Given the description of an element on the screen output the (x, y) to click on. 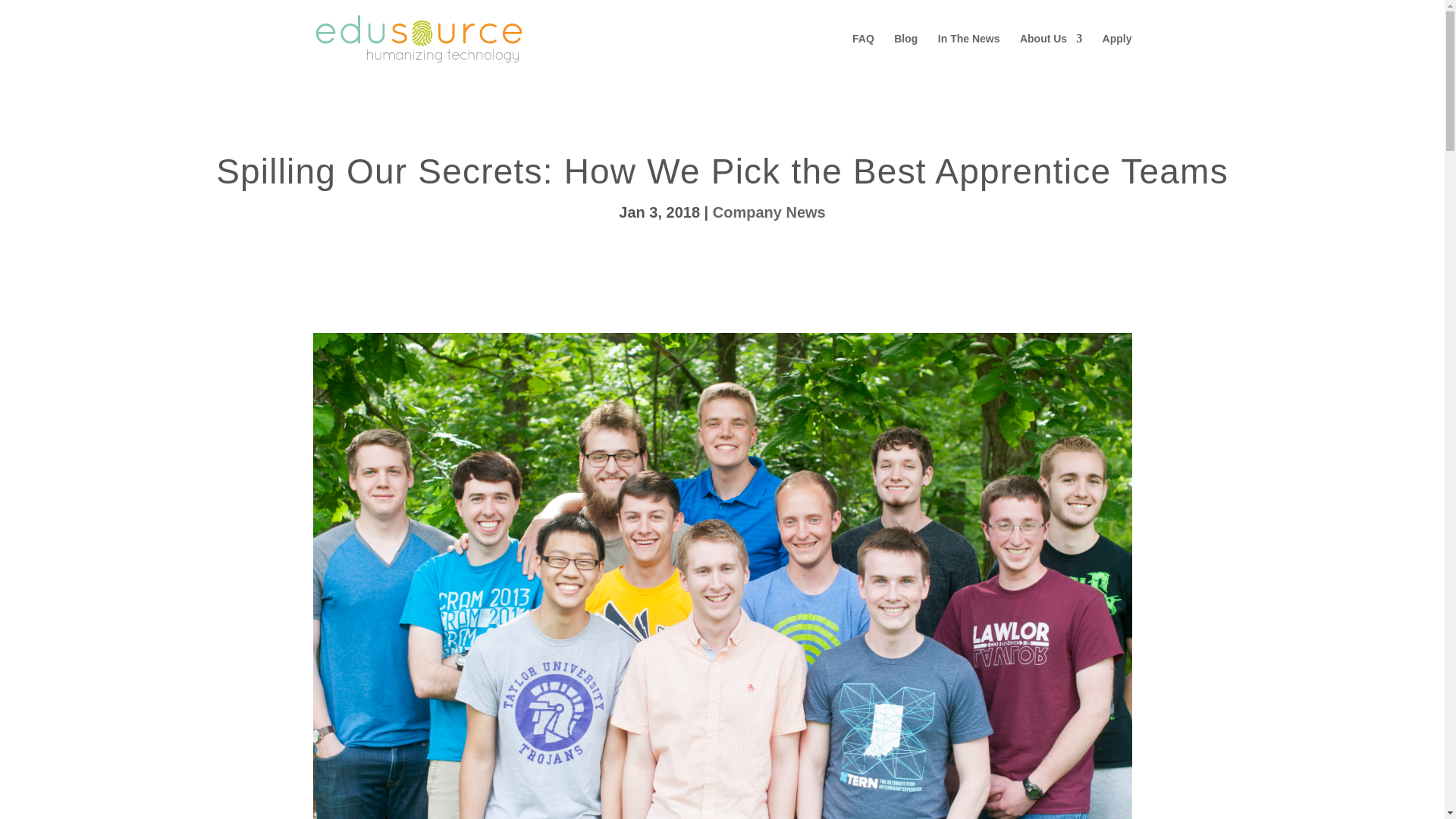
In The News (968, 54)
About Us (1050, 54)
Company News (769, 211)
